Given the description of an element on the screen output the (x, y) to click on. 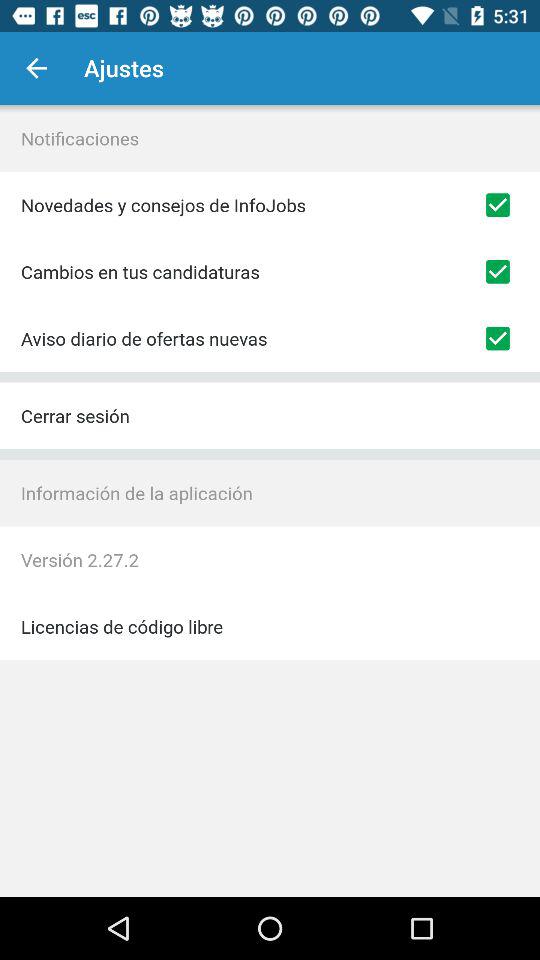
accept (498, 338)
